Given the description of an element on the screen output the (x, y) to click on. 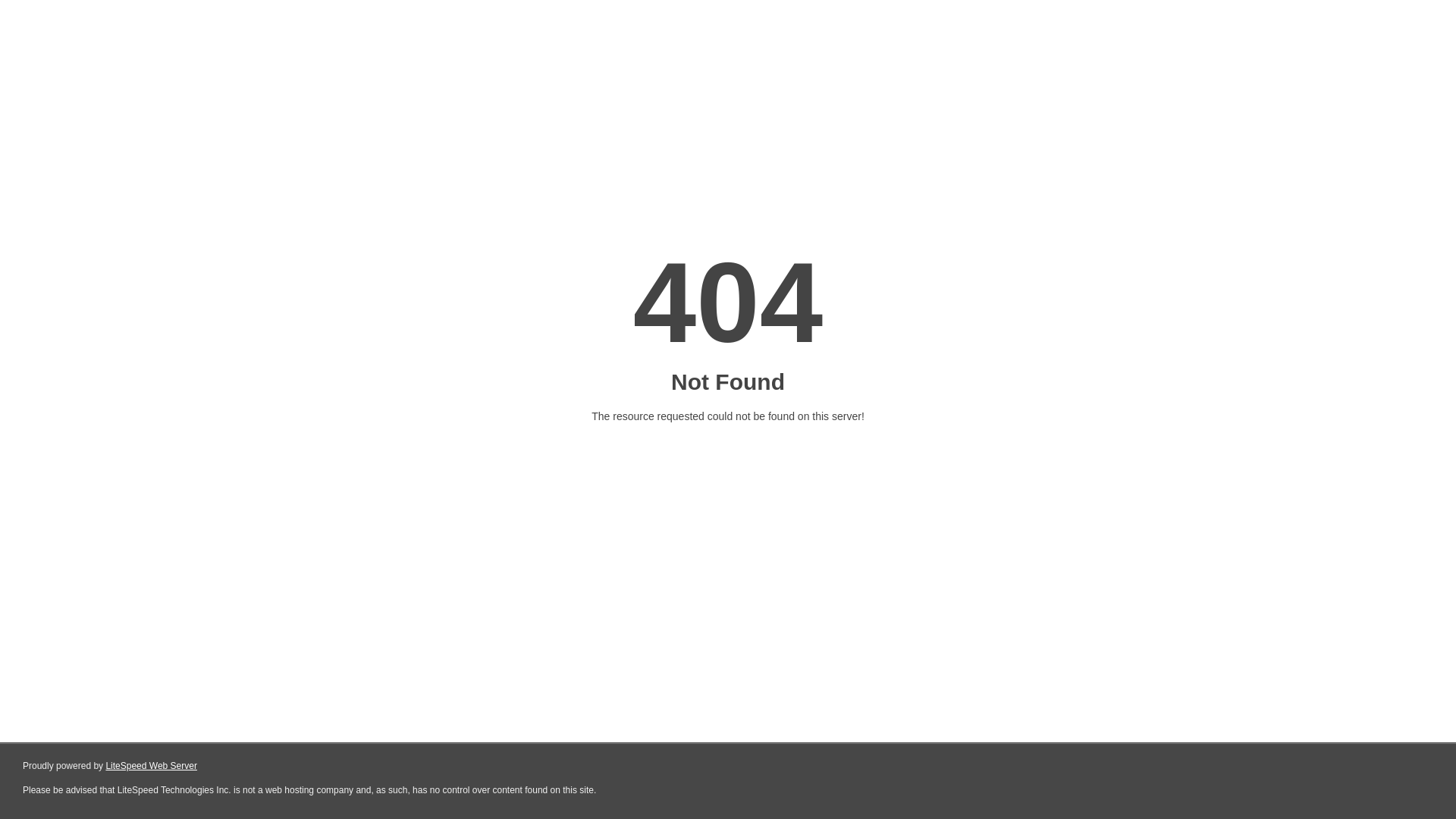
LiteSpeed Web Server Element type: text (151, 765)
